Given the description of an element on the screen output the (x, y) to click on. 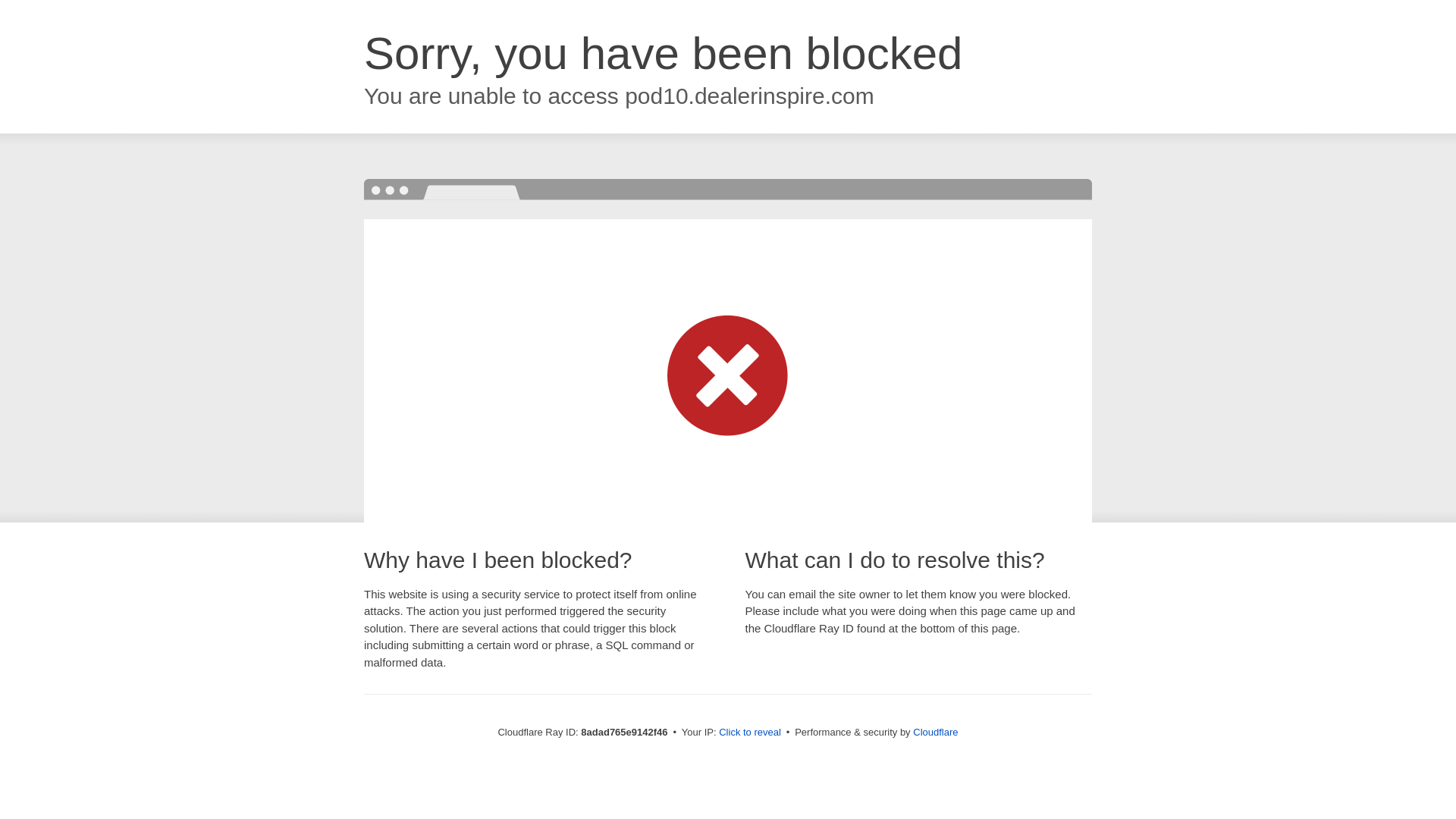
Click to reveal (749, 732)
Cloudflare (935, 731)
